Given the description of an element on the screen output the (x, y) to click on. 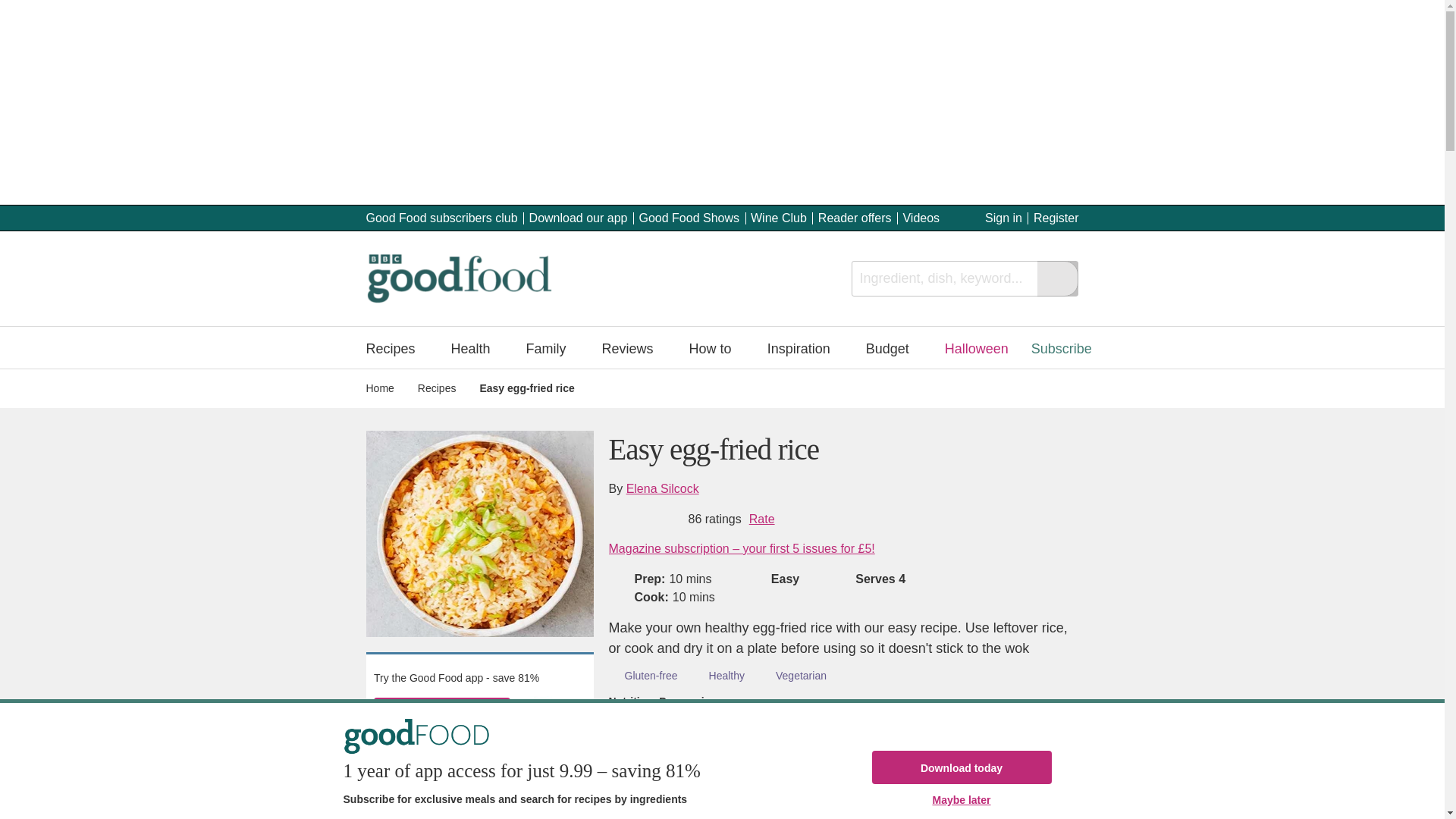
Recipes (397, 347)
Good Food subscribers club (440, 216)
Download our app (578, 216)
Good Food Shows (689, 216)
Wine Club (778, 216)
cropped-GF-logos2022CMYK-PrintUKONLY10-2-434430d-f5051ed.png (458, 278)
Sign in (1003, 216)
Good Food Shows (689, 216)
Recipes (397, 347)
Good Food subscribers club (440, 216)
Register (1055, 216)
Download our app (578, 216)
Reader offers (854, 216)
Reader offers (854, 216)
Wine Club (778, 216)
